Given the description of an element on the screen output the (x, y) to click on. 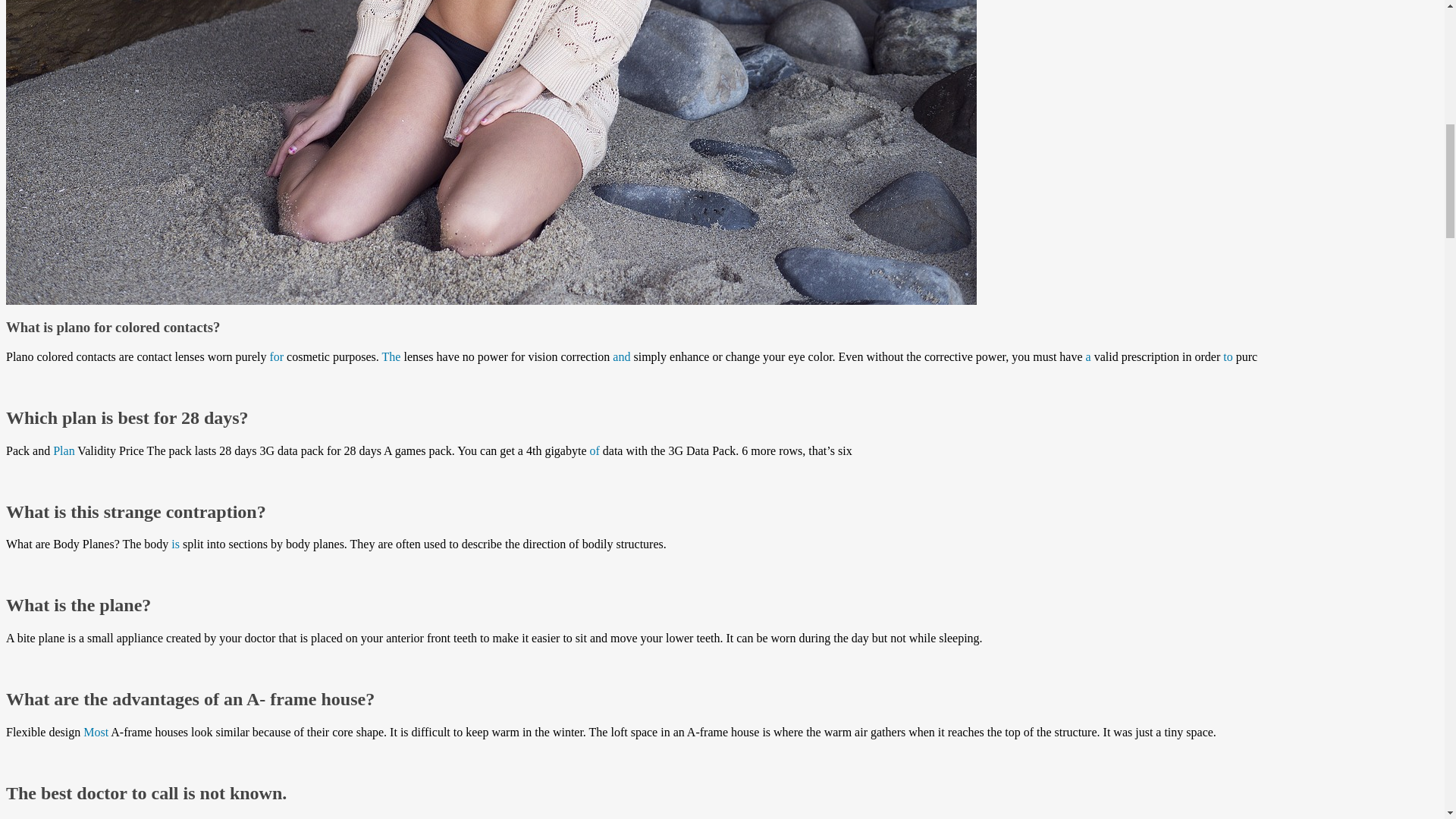
for (276, 356)
and (621, 356)
Most (94, 731)
The (391, 356)
Plan (63, 450)
